Given the description of an element on the screen output the (x, y) to click on. 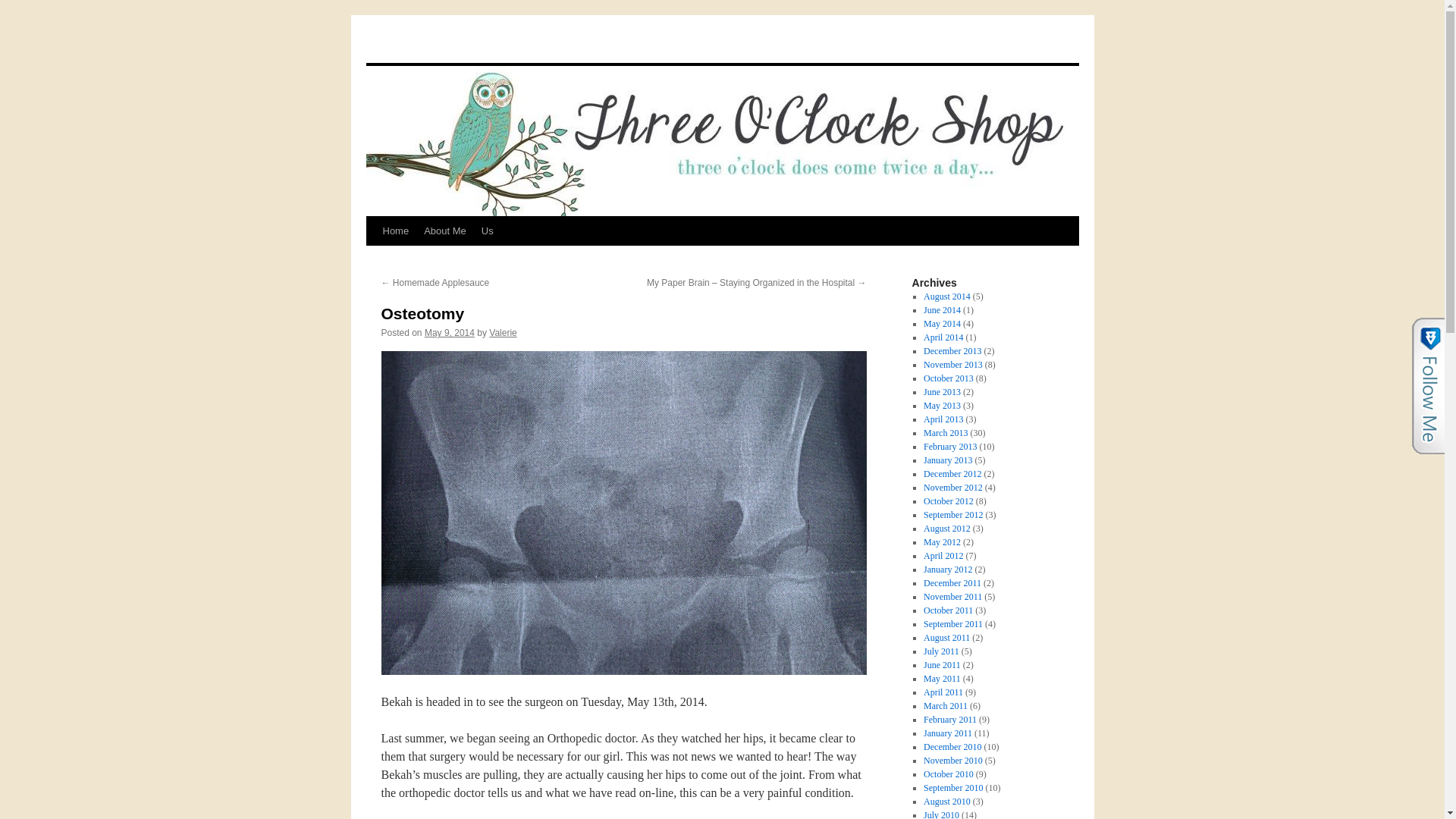
May 2014 (941, 323)
November 2013 (952, 364)
View all posts by Valerie (502, 332)
Skip to content (372, 260)
Home (395, 231)
April 2014 (942, 337)
October 2013 (948, 378)
Valerie (502, 332)
Skip to content (372, 260)
June 2014 (941, 309)
April 2013 (942, 419)
8:00 am (449, 332)
About Me (445, 231)
Us (487, 231)
March 2013 (945, 432)
